Given the description of an element on the screen output the (x, y) to click on. 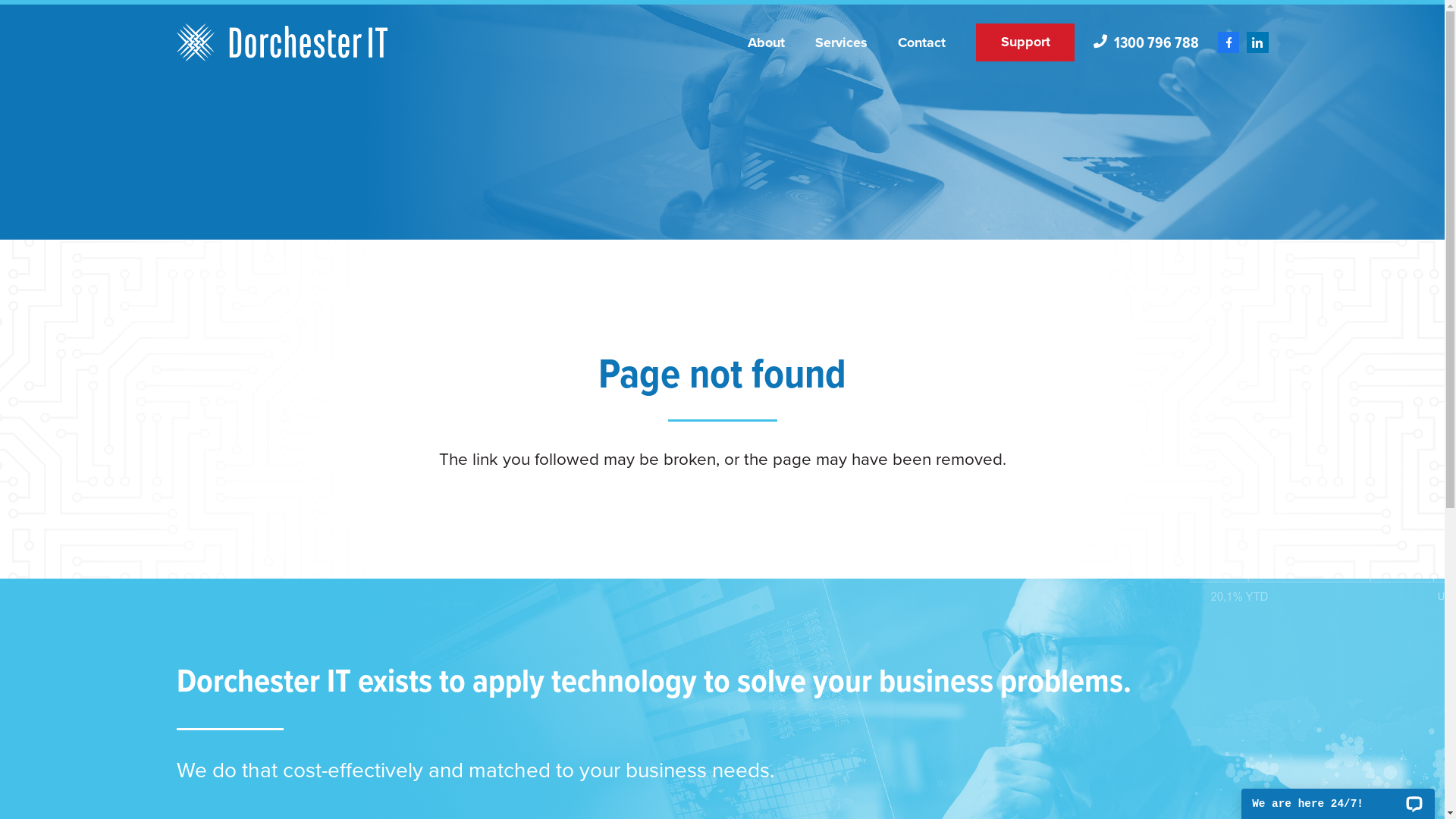
Facebook Element type: text (1228, 42)
LinkedIn Element type: text (1256, 42)
1300 796 788 Element type: text (1145, 42)
Contact Element type: text (921, 42)
Services Element type: text (841, 42)
Support Element type: text (1024, 42)
Dorchester IT Element type: text (281, 42)
About Element type: text (766, 42)
